Given the description of an element on the screen output the (x, y) to click on. 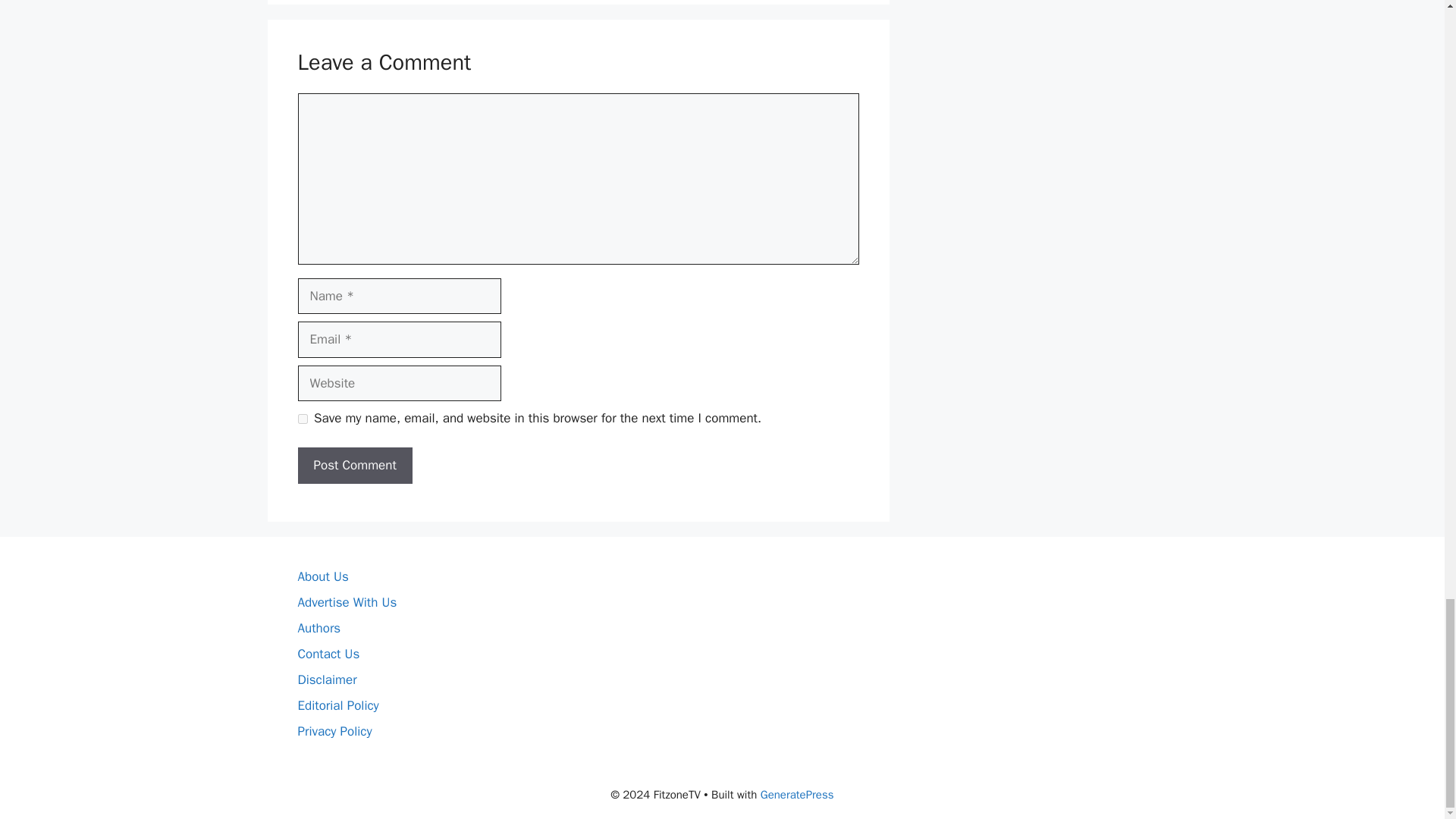
yes (302, 419)
Post Comment (354, 465)
Post Comment (354, 465)
